Given the description of an element on the screen output the (x, y) to click on. 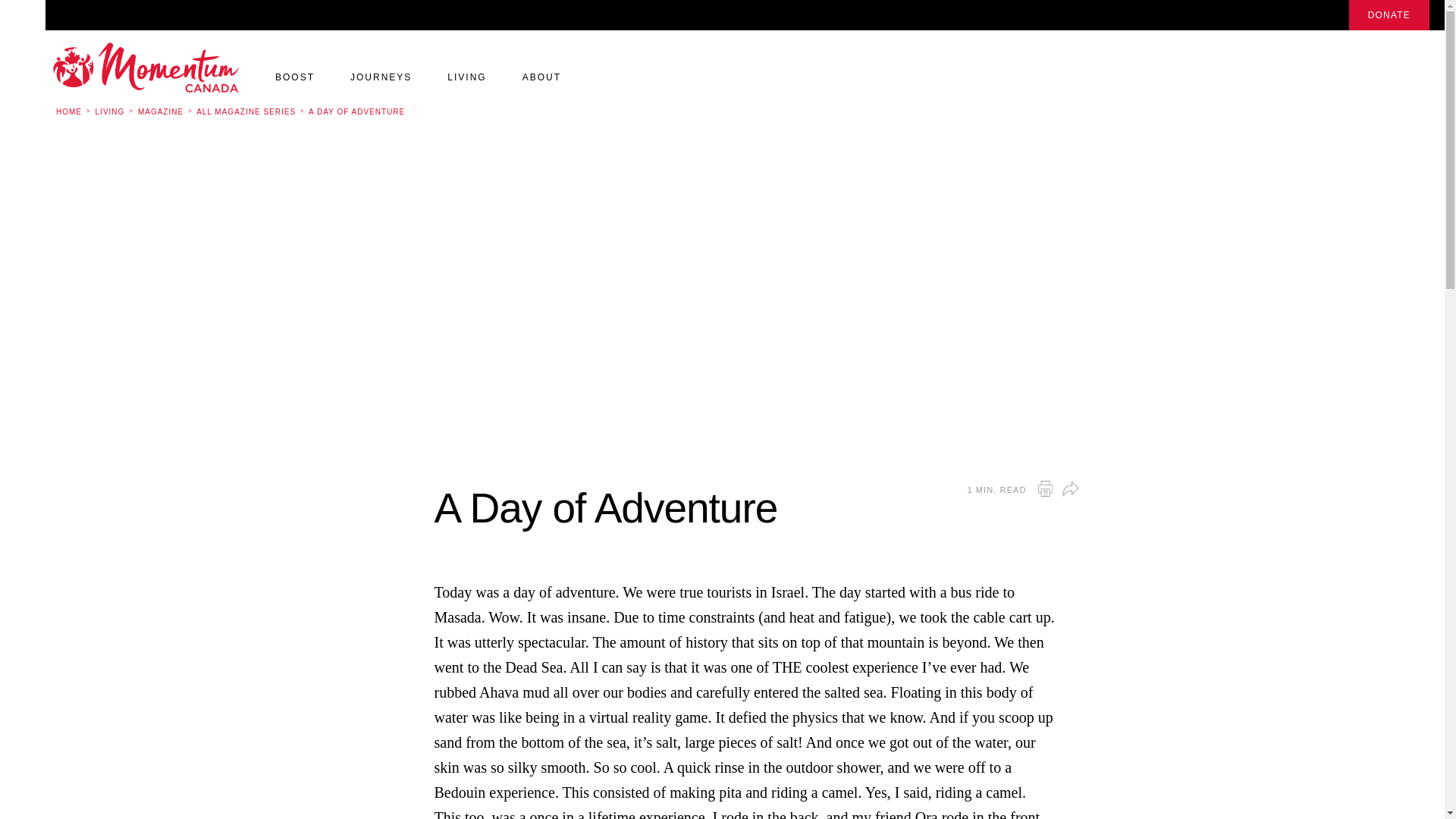
BOOST (294, 82)
DONATE (1389, 15)
LIVING (466, 82)
JOURNEYS (380, 82)
